Given the description of an element on the screen output the (x, y) to click on. 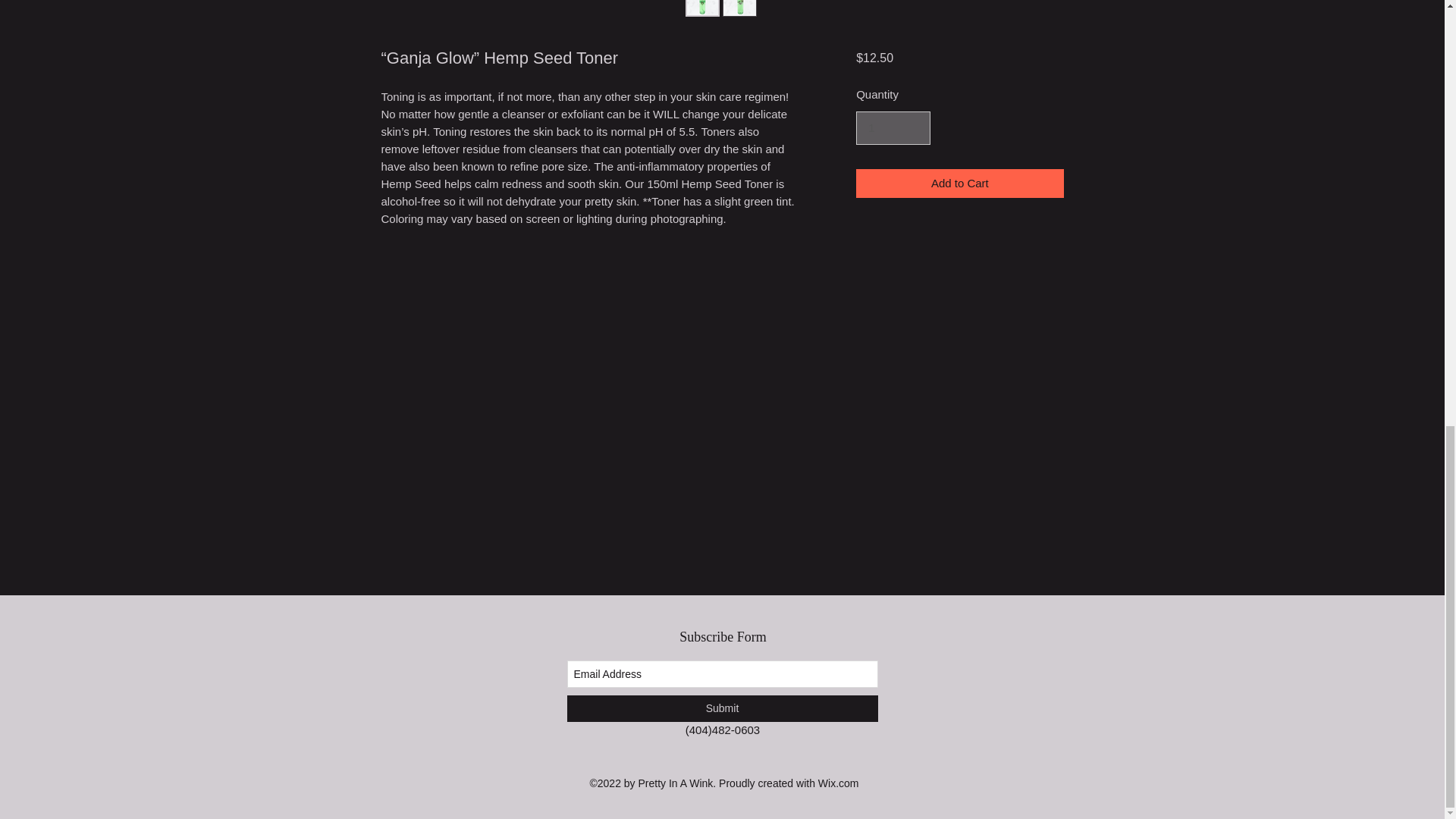
Add to Cart (959, 183)
Submit (722, 708)
1 (893, 127)
